Given the description of an element on the screen output the (x, y) to click on. 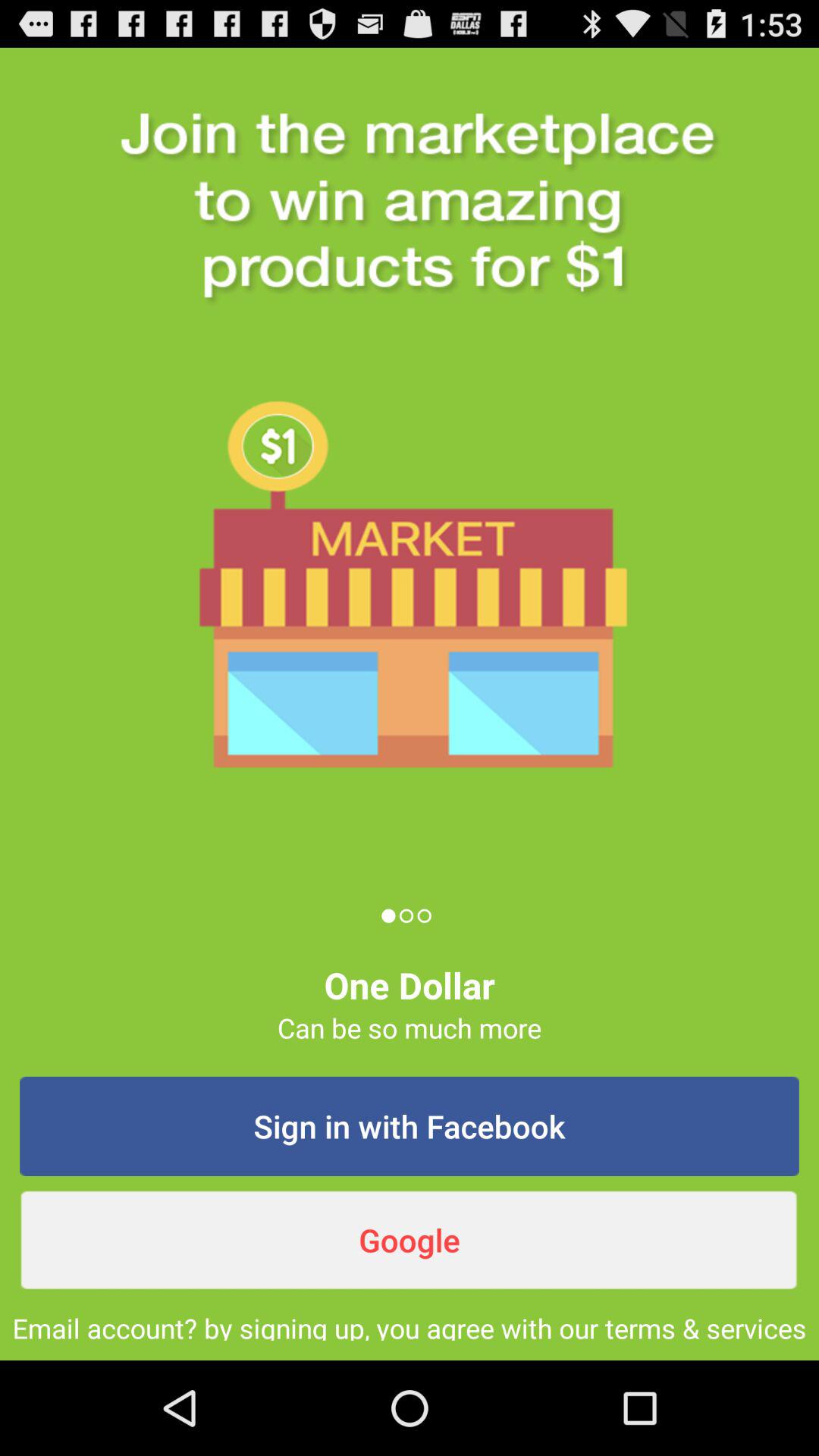
scroll until the sign in with icon (409, 1126)
